Given the description of an element on the screen output the (x, y) to click on. 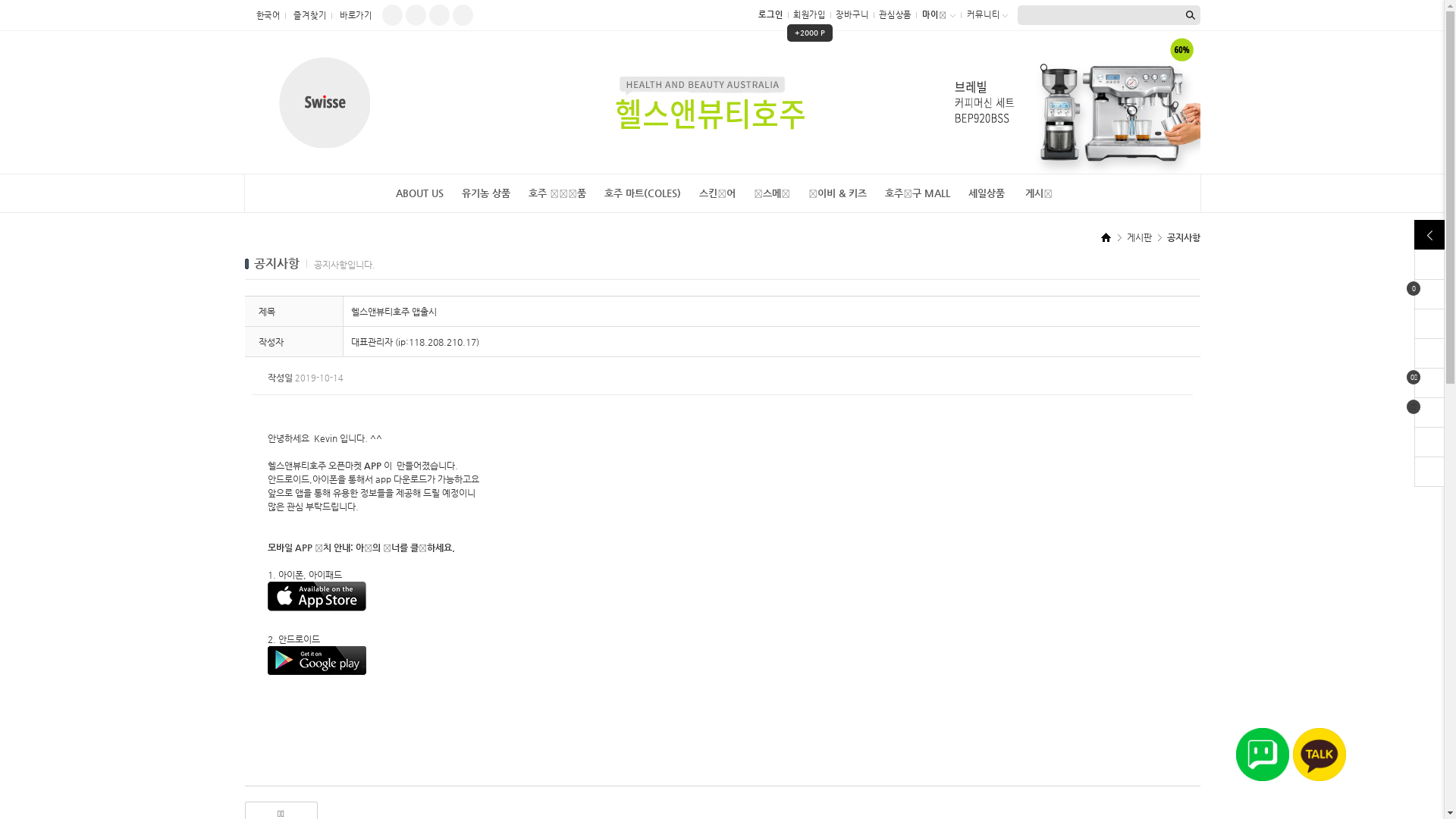
ABOUT US Element type: text (419, 193)
